Given the description of an element on the screen output the (x, y) to click on. 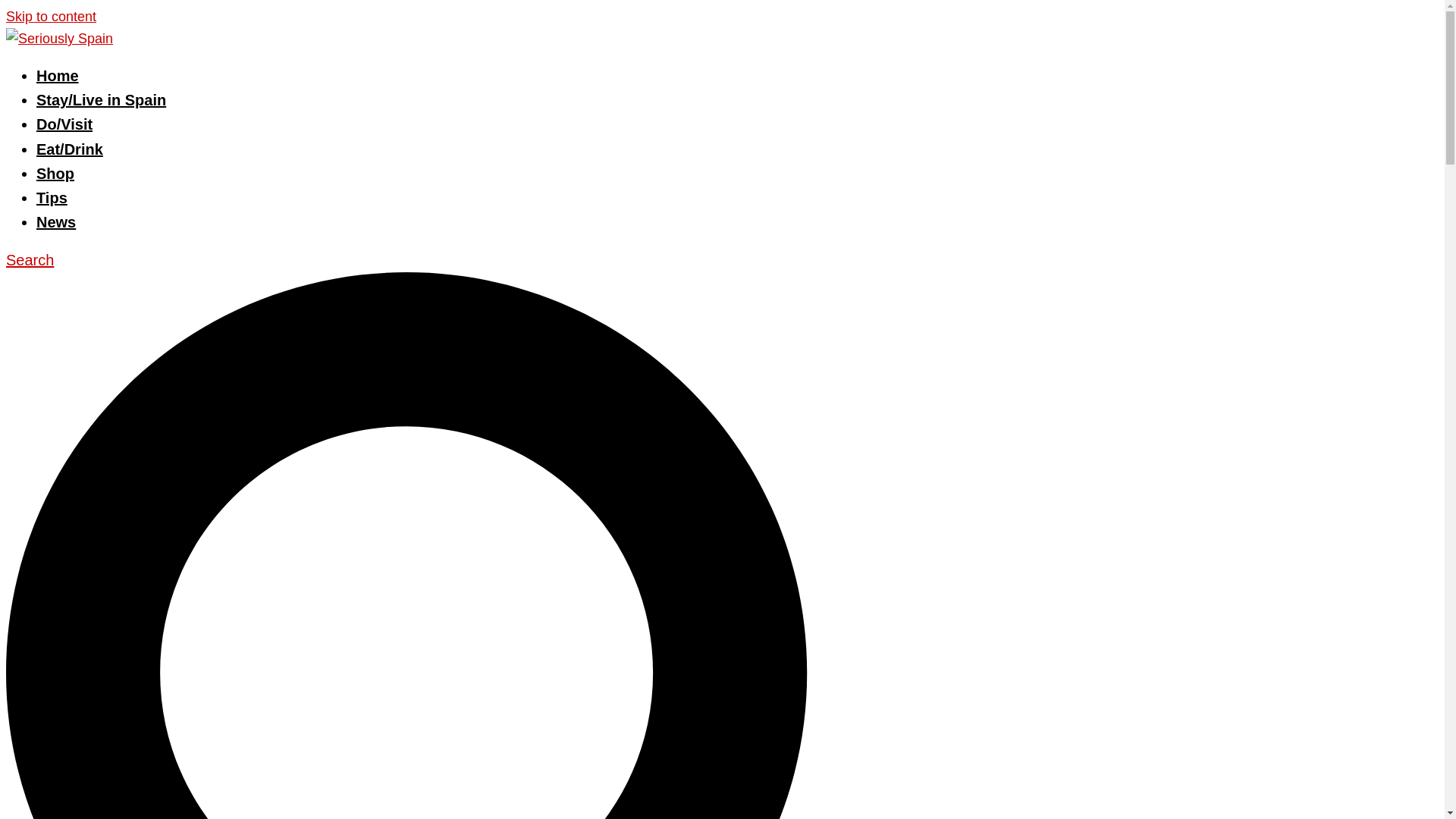
Home (57, 75)
Skip to content (50, 16)
News (55, 221)
Seriously Spain (59, 38)
Tips (51, 197)
Shop (55, 173)
